Given the description of an element on the screen output the (x, y) to click on. 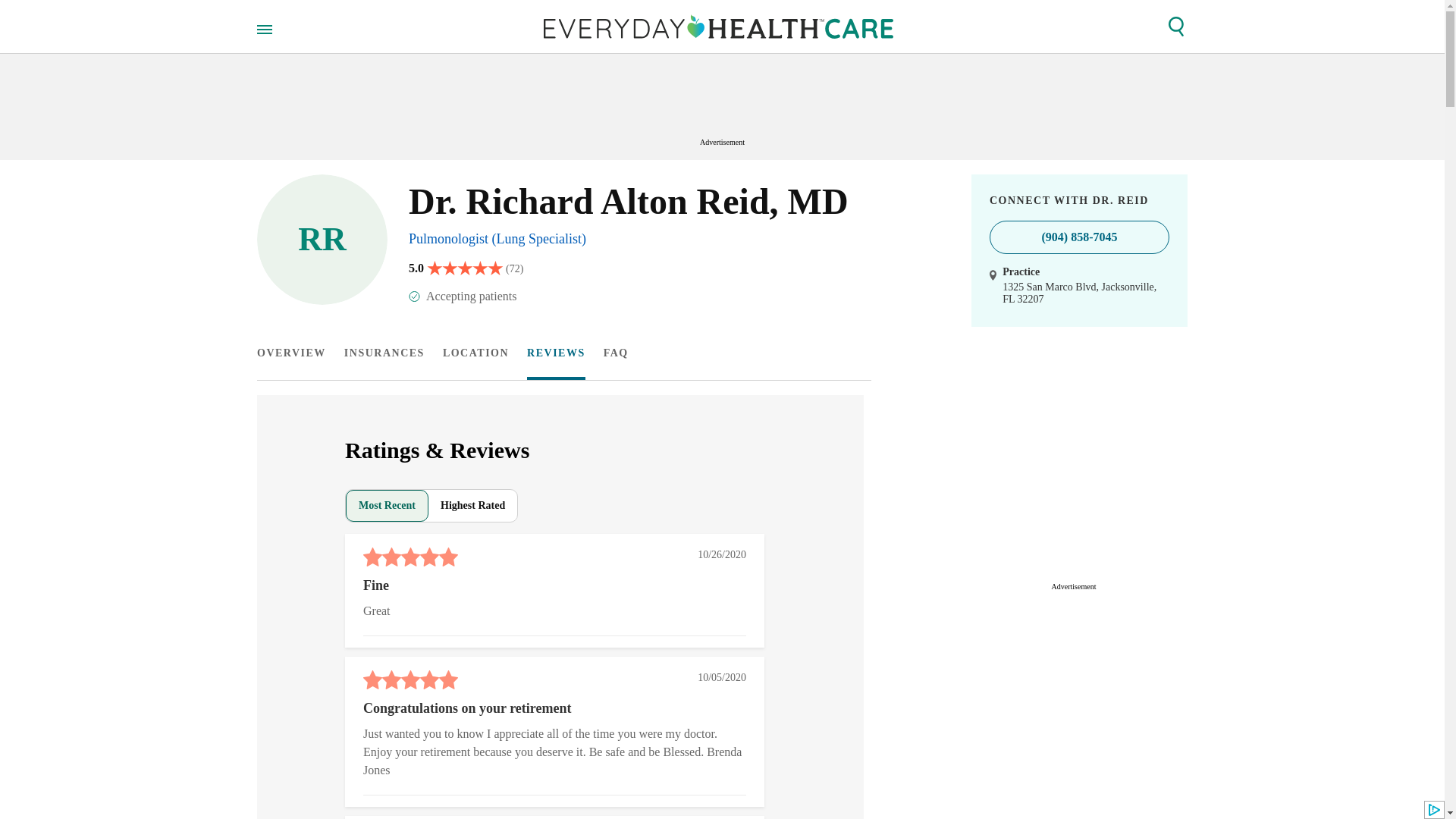
LOCATION (475, 353)
Most Recent (387, 505)
OVERVIEW (291, 353)
INSURANCES (384, 353)
Highest Rated (472, 505)
REVIEWS (556, 353)
